Given the description of an element on the screen output the (x, y) to click on. 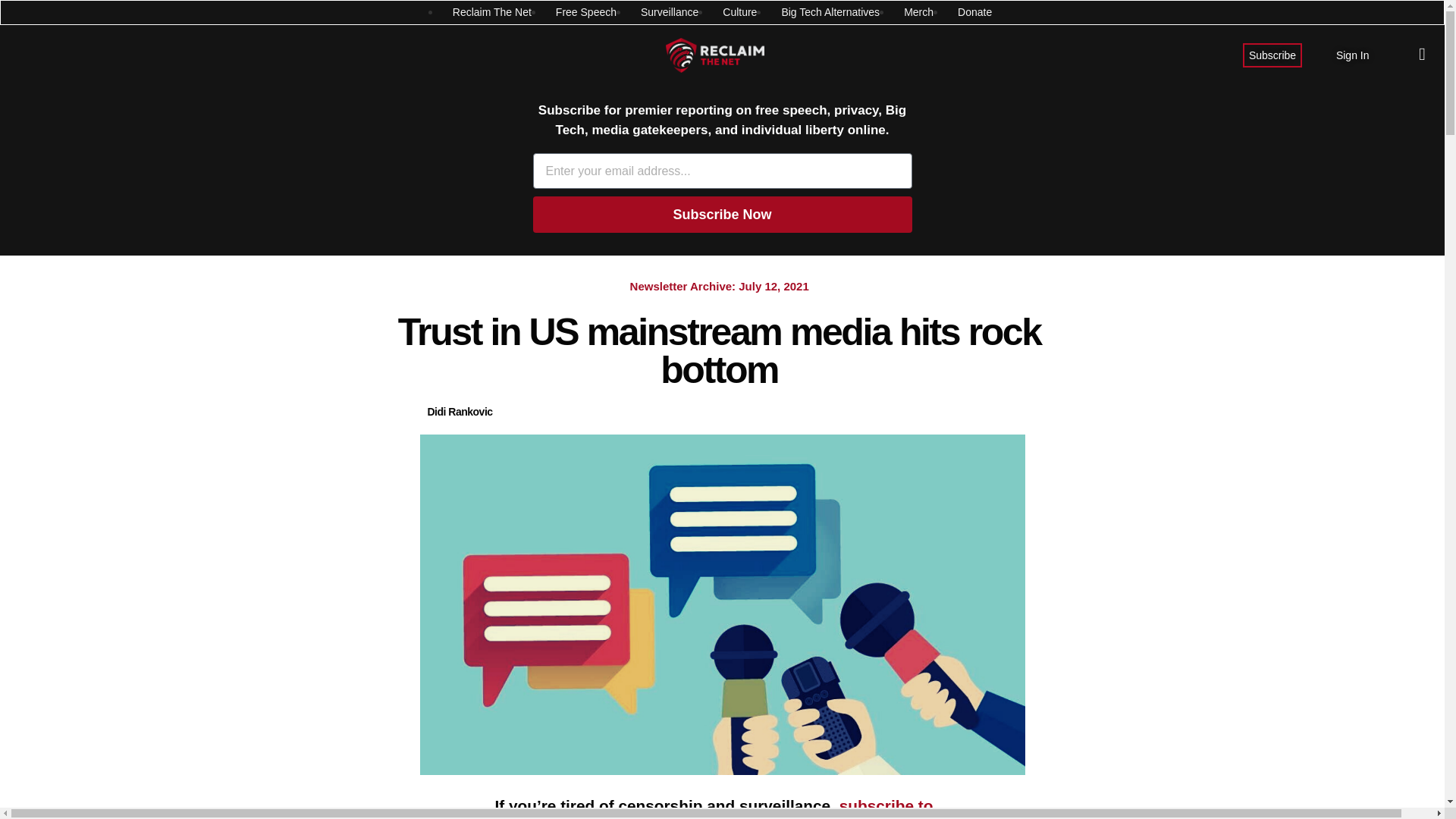
Merch (918, 12)
Didi Rankovic (460, 412)
subscribe to Reclaim The Net. (714, 807)
Big Tech Alternatives (829, 12)
Culture (739, 12)
Surveillance (669, 12)
Subscribe (1272, 55)
Free Speech (585, 12)
Reclaim The Net (491, 12)
Sign In (1353, 55)
Donate (974, 12)
Subscribe Now (721, 214)
